Given the description of an element on the screen output the (x, y) to click on. 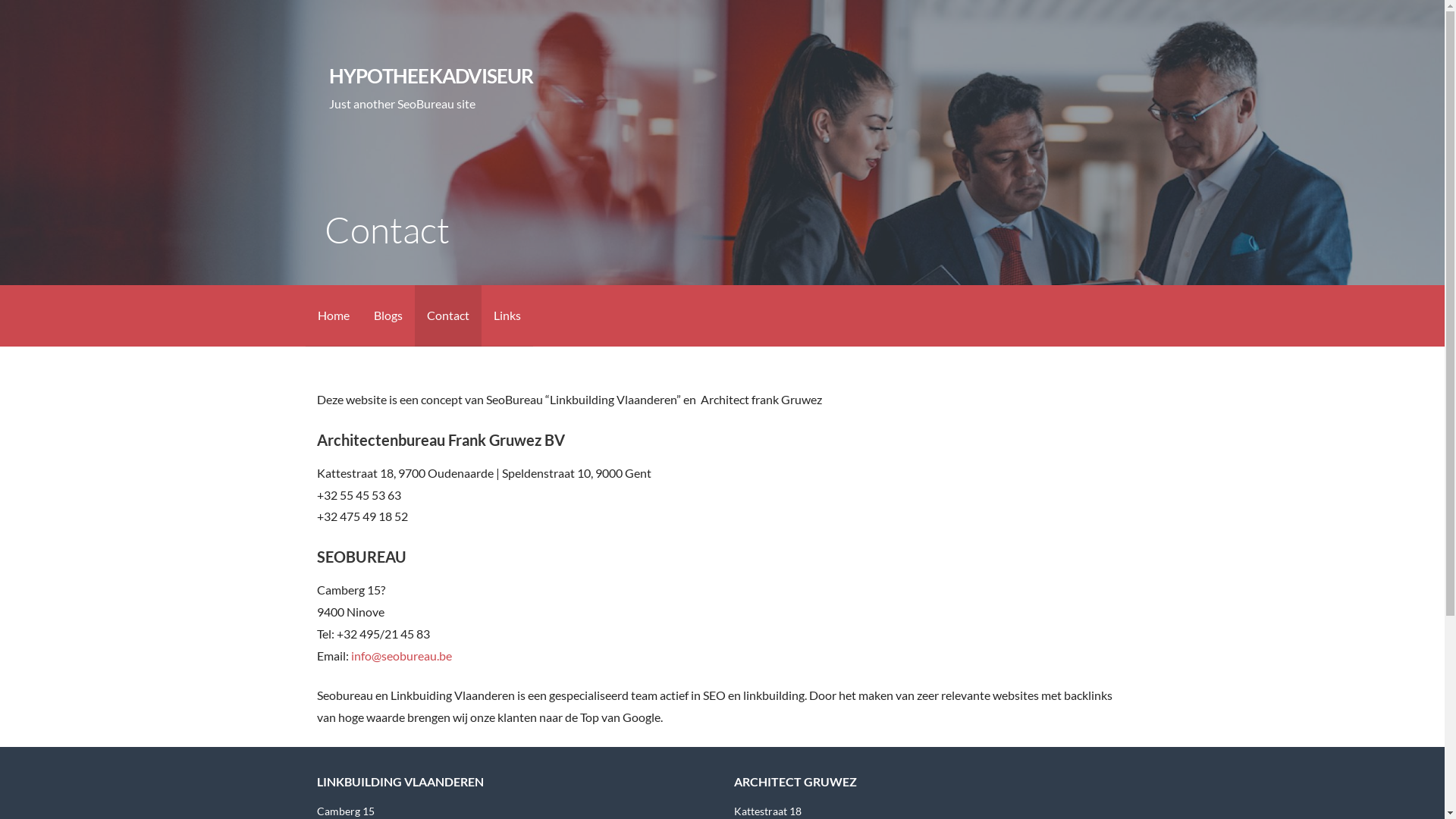
Blogs Element type: text (387, 315)
HYPOTHEEKADVISEUR Element type: text (431, 75)
Contact Element type: text (447, 315)
Links Element type: text (506, 315)
Home Element type: text (332, 315)
info@seobureau.be Element type: text (401, 655)
